Given the description of an element on the screen output the (x, y) to click on. 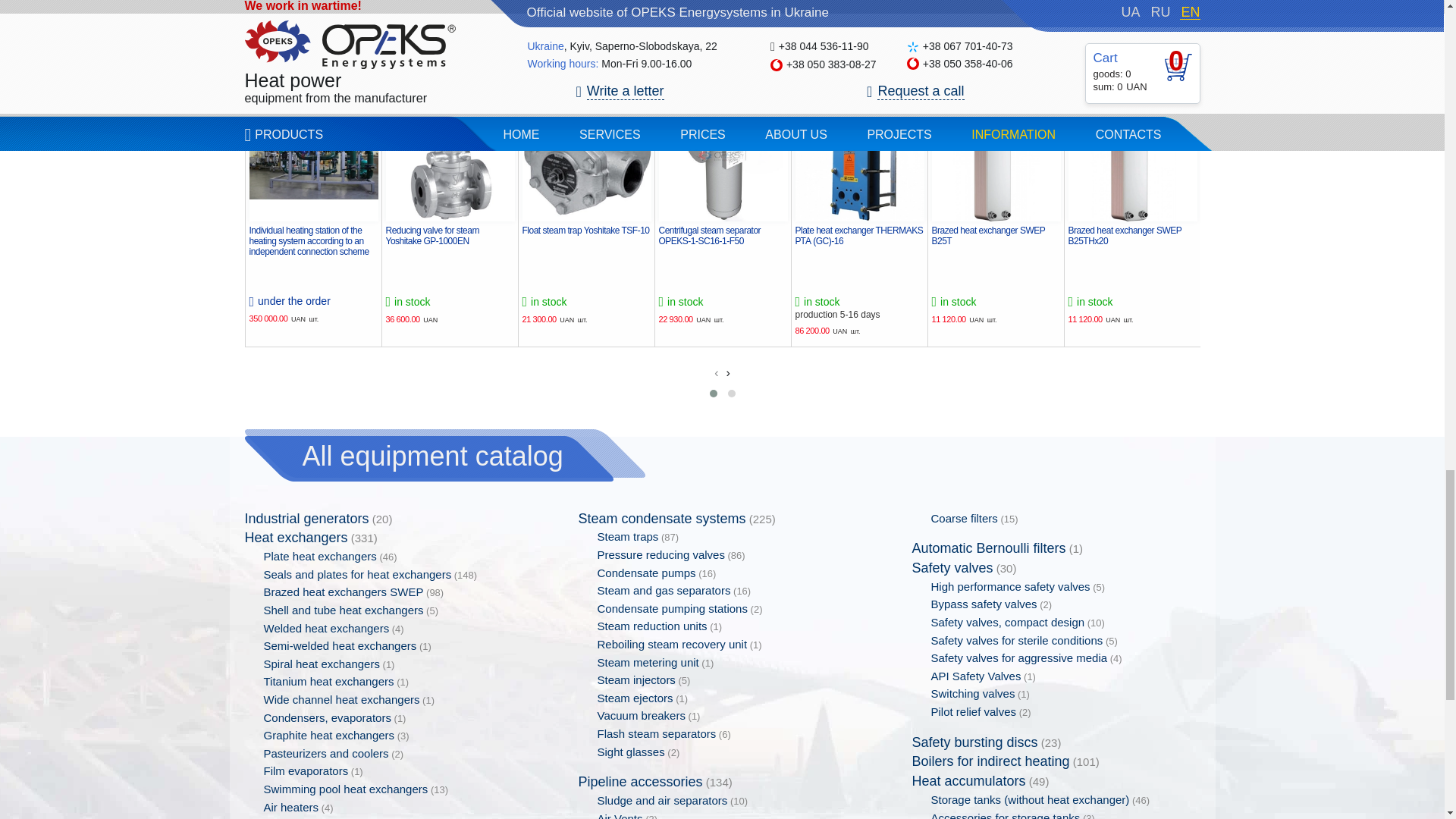
Brazed heat exchanger SWEP B25T (995, 156)
Brazed heat exchanger SWEP B25THx20 (1131, 156)
Float steam trap Yoshitake TSF10 (585, 156)
Centrifugal steam separator OPEKS1SC161F50 (722, 156)
Reducing valve for steam Yoshitake GP1000EN (449, 156)
